Given the description of an element on the screen output the (x, y) to click on. 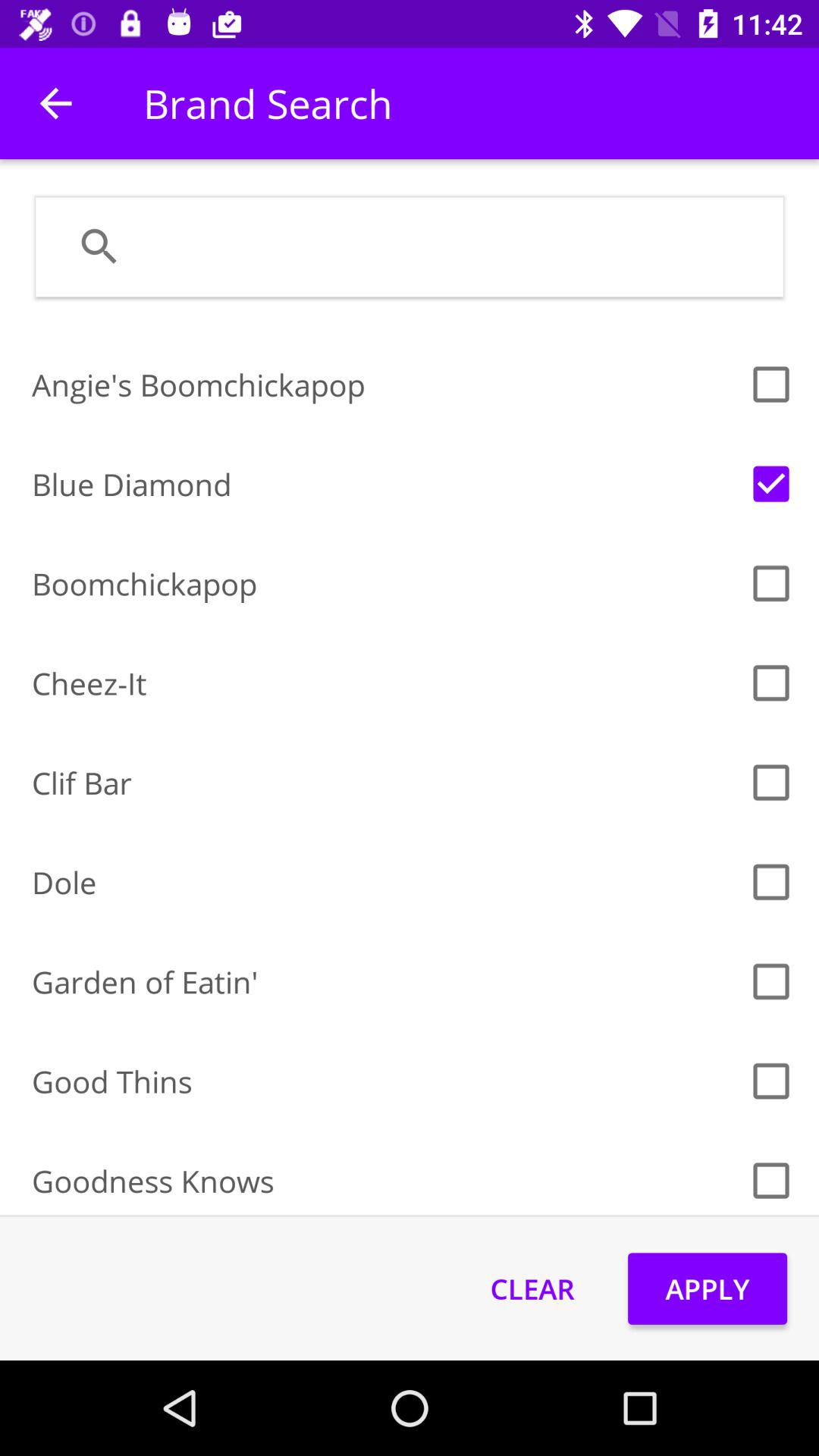
flip until the dole item (385, 882)
